Given the description of an element on the screen output the (x, y) to click on. 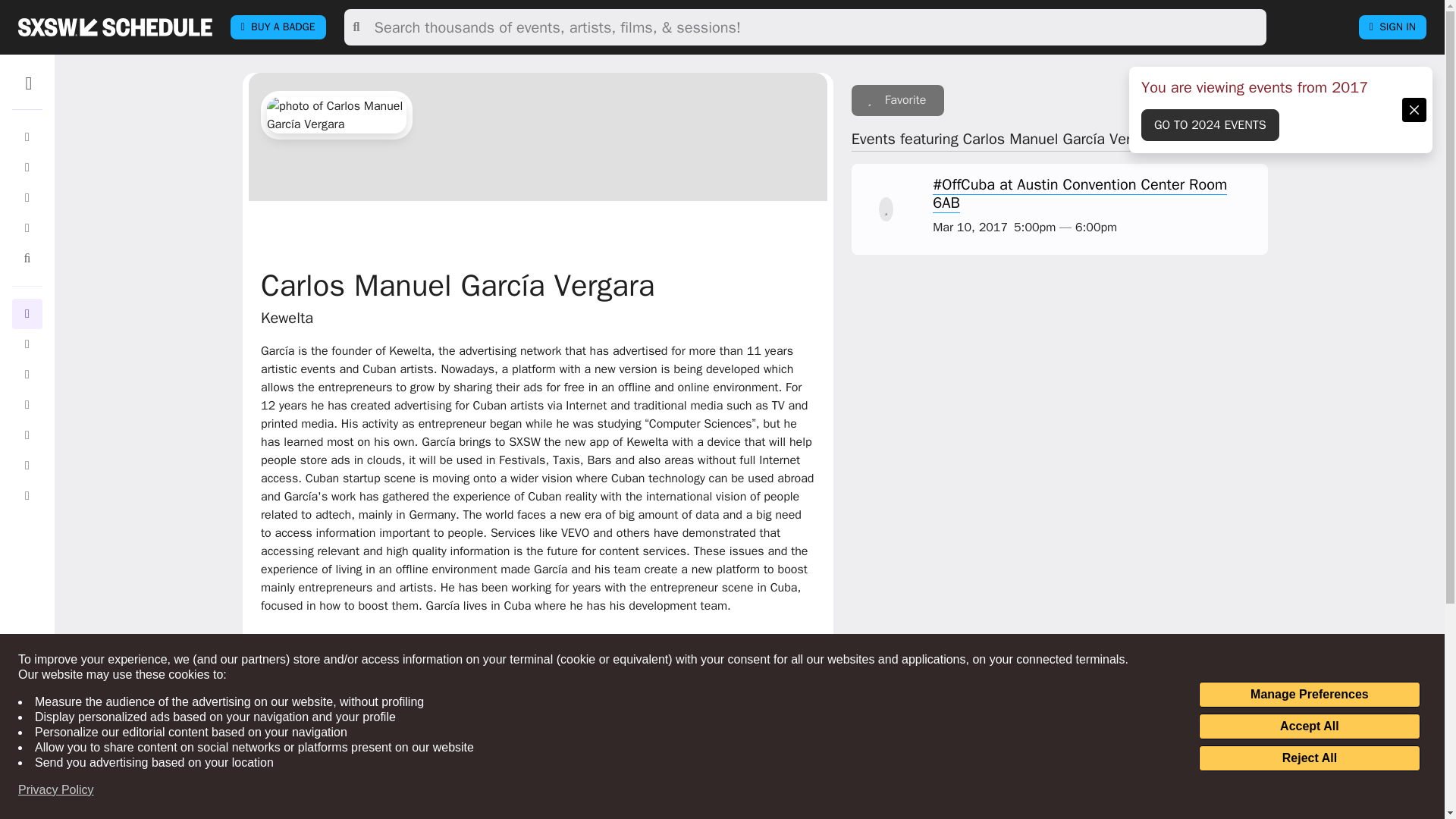
Reject All (1309, 758)
SIGN IN (1392, 27)
Manage Preferences (1309, 694)
sxsw SCHEDULE (114, 27)
Sign In to add to your favorites. (886, 209)
BUY A BADGE (278, 27)
Accept All (1309, 726)
Privacy Policy (55, 789)
Sign In to add to your favorites. (897, 100)
GO TO 2024 EVENTS (1210, 124)
